Given the description of an element on the screen output the (x, y) to click on. 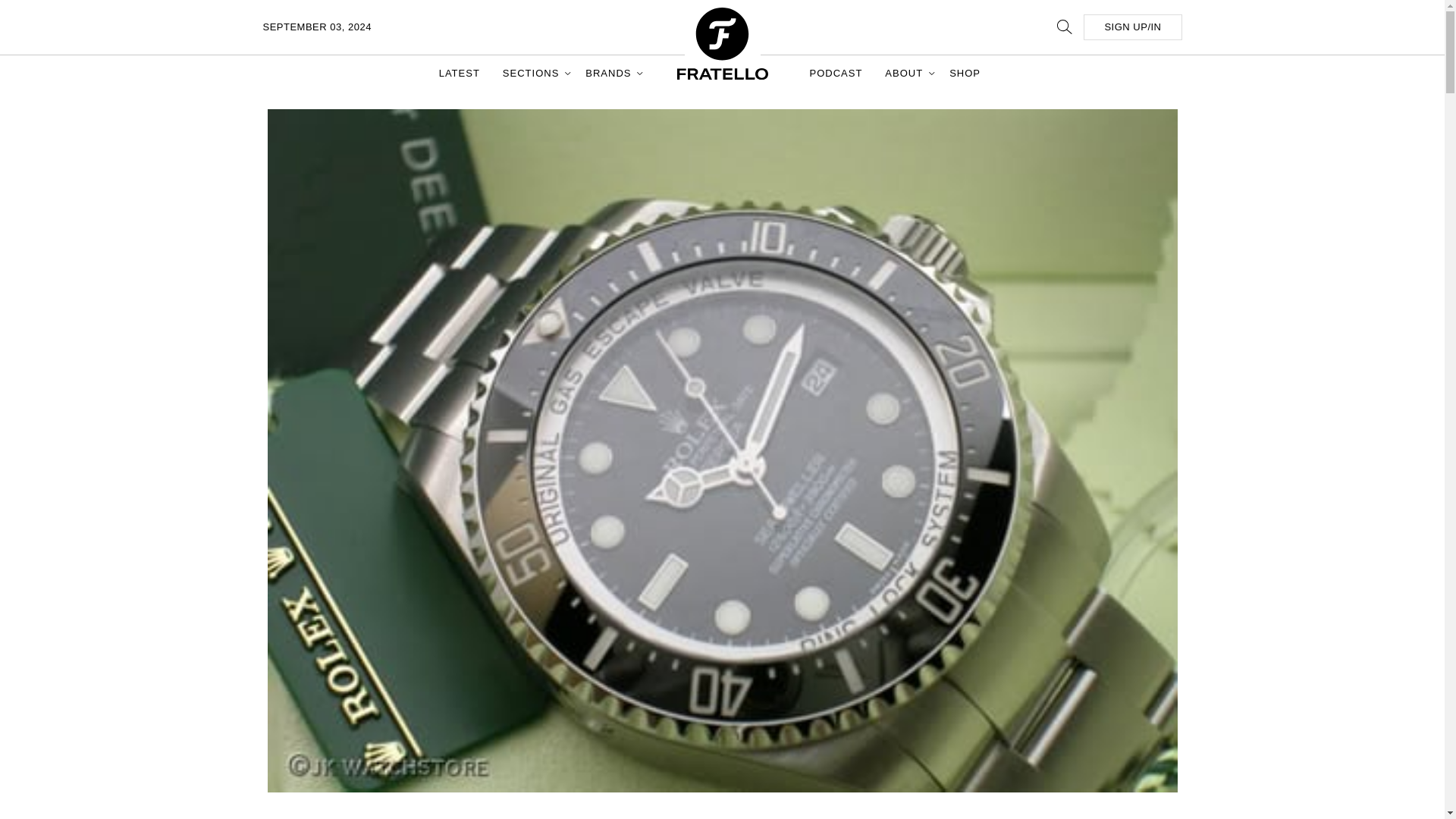
SECTIONS (532, 72)
BRANDS (609, 72)
LATEST (460, 72)
